Given the description of an element on the screen output the (x, y) to click on. 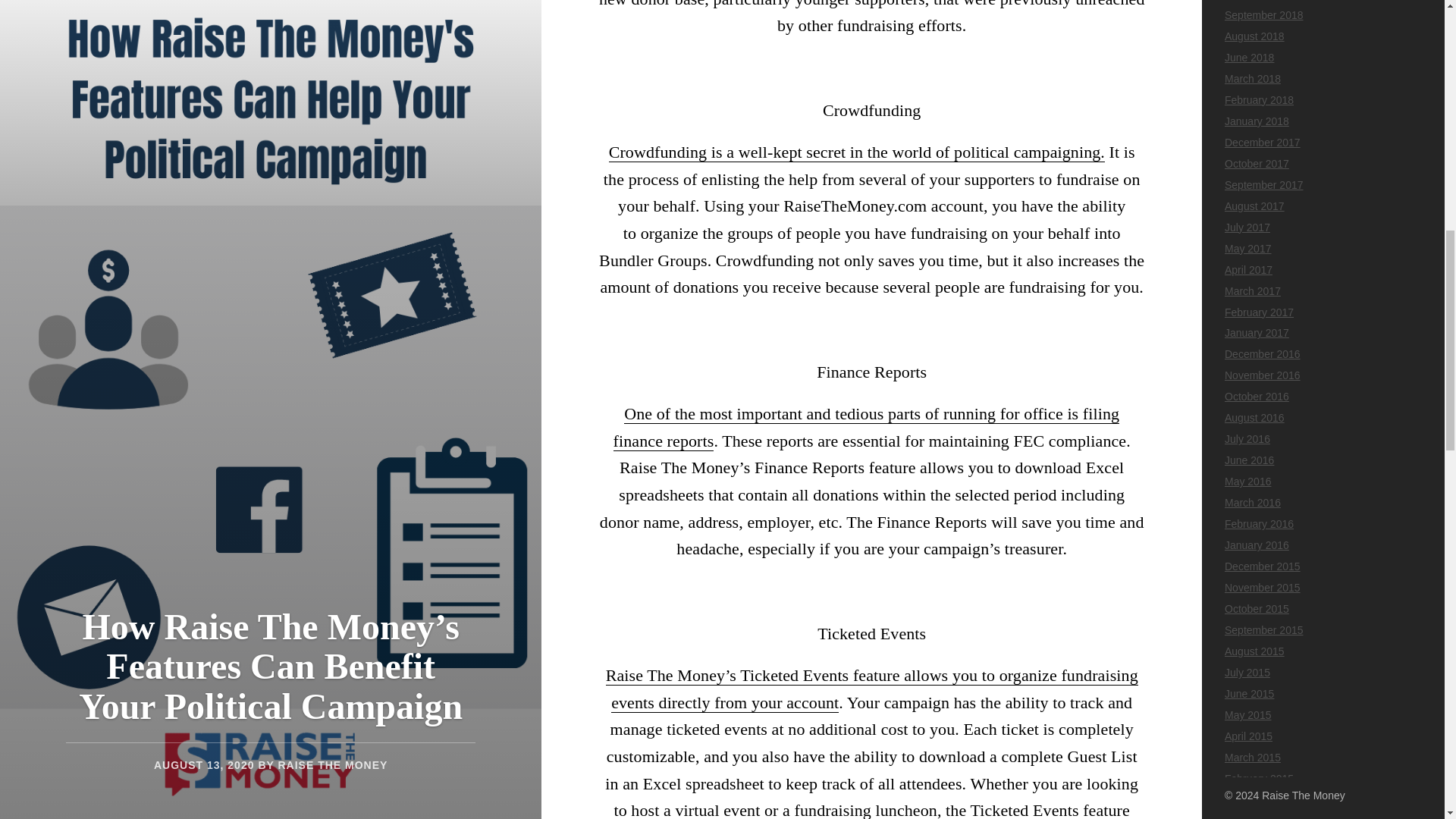
December 2017 (1262, 142)
February 2018 (1259, 100)
September 2018 (1263, 15)
June 2018 (1249, 57)
January 2018 (1256, 121)
March 2018 (1252, 78)
October 2017 (1256, 163)
August 2018 (1254, 36)
September 2017 (1263, 184)
